Given the description of an element on the screen output the (x, y) to click on. 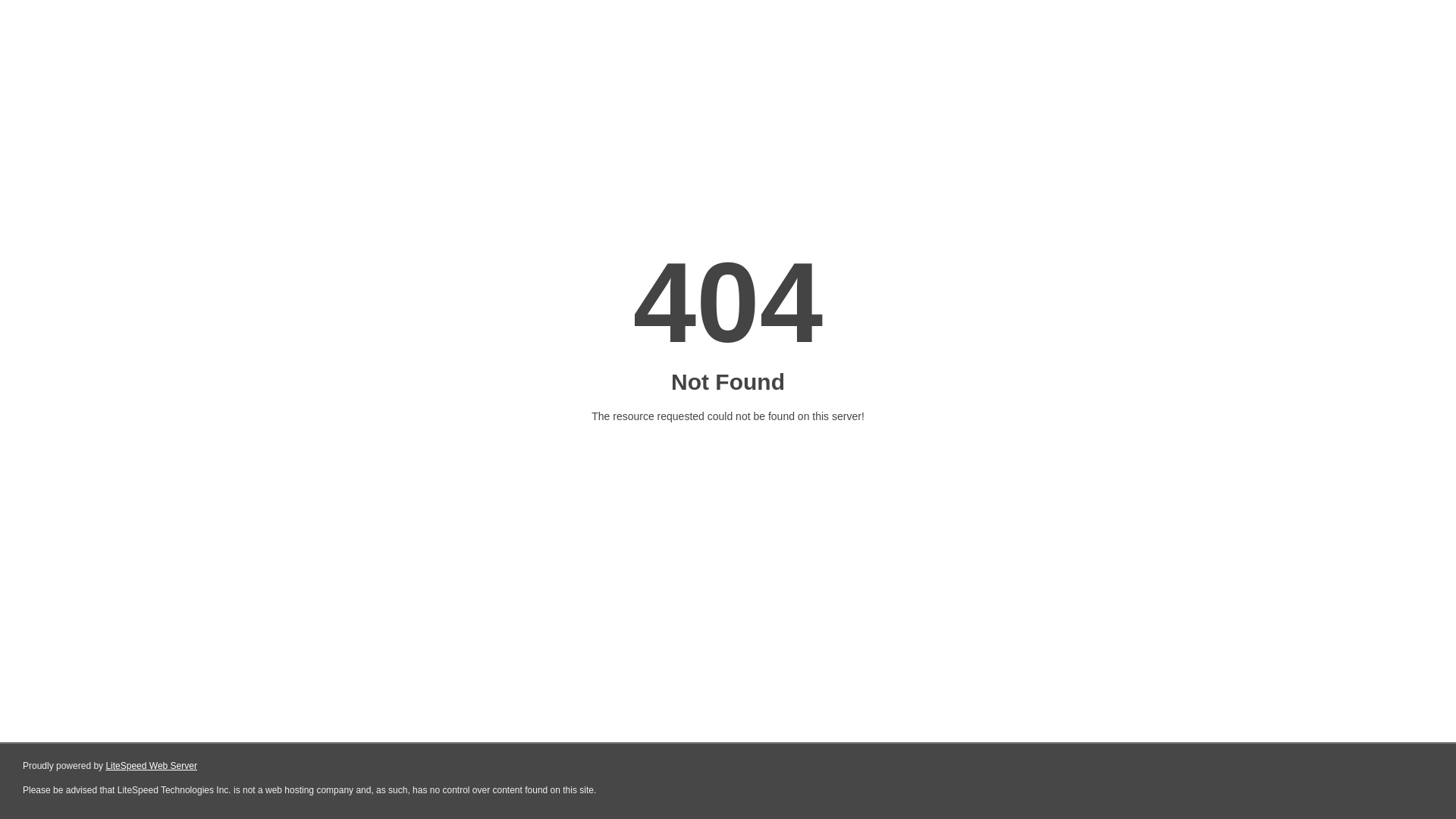
LiteSpeed Web Server Element type: text (151, 765)
